Given the description of an element on the screen output the (x, y) to click on. 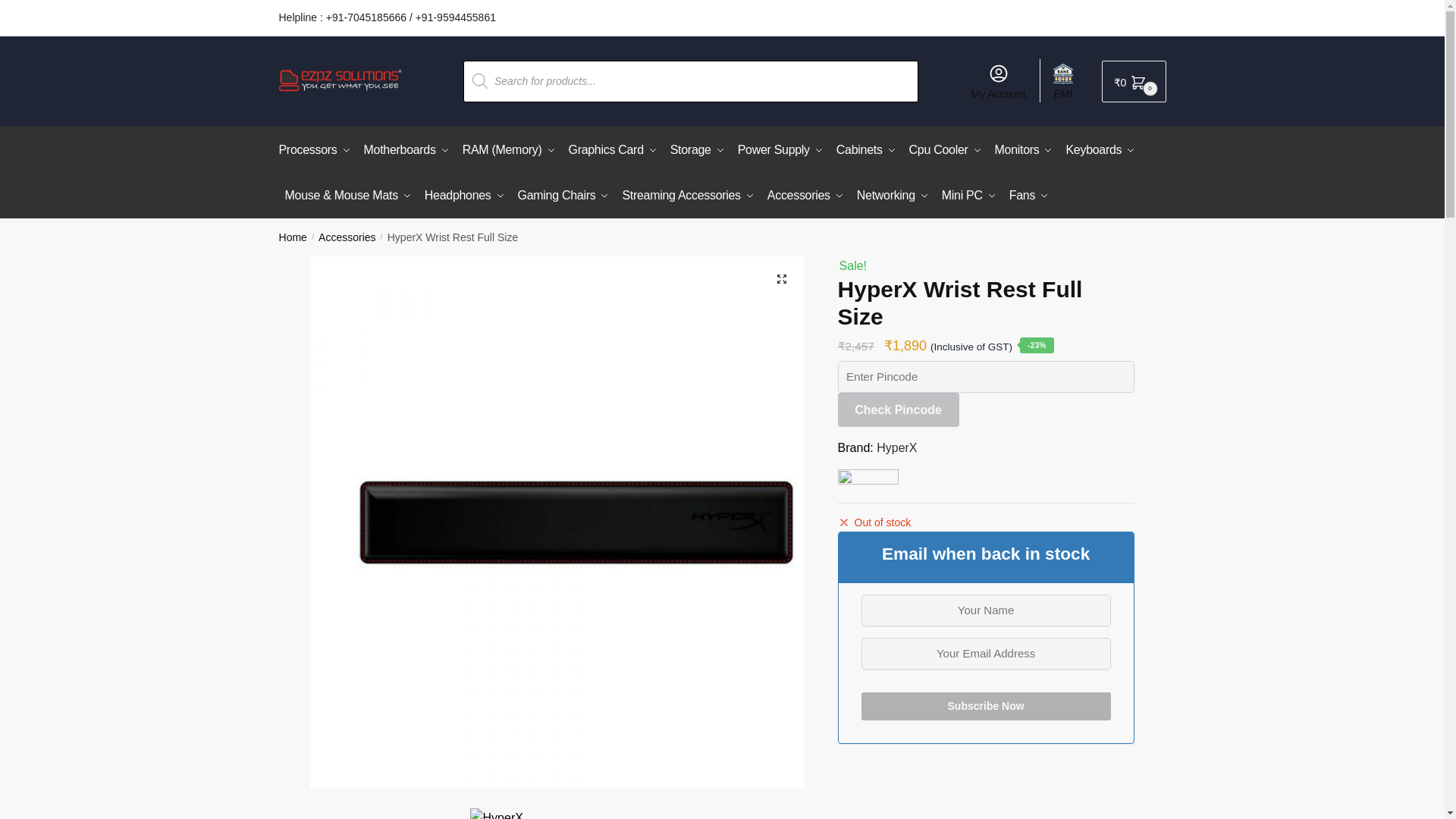
Graphics Card (612, 149)
View your shopping cart (1134, 81)
Processors (317, 149)
My Account (997, 80)
Motherboards (406, 149)
Subscribe Now (985, 706)
